Given the description of an element on the screen output the (x, y) to click on. 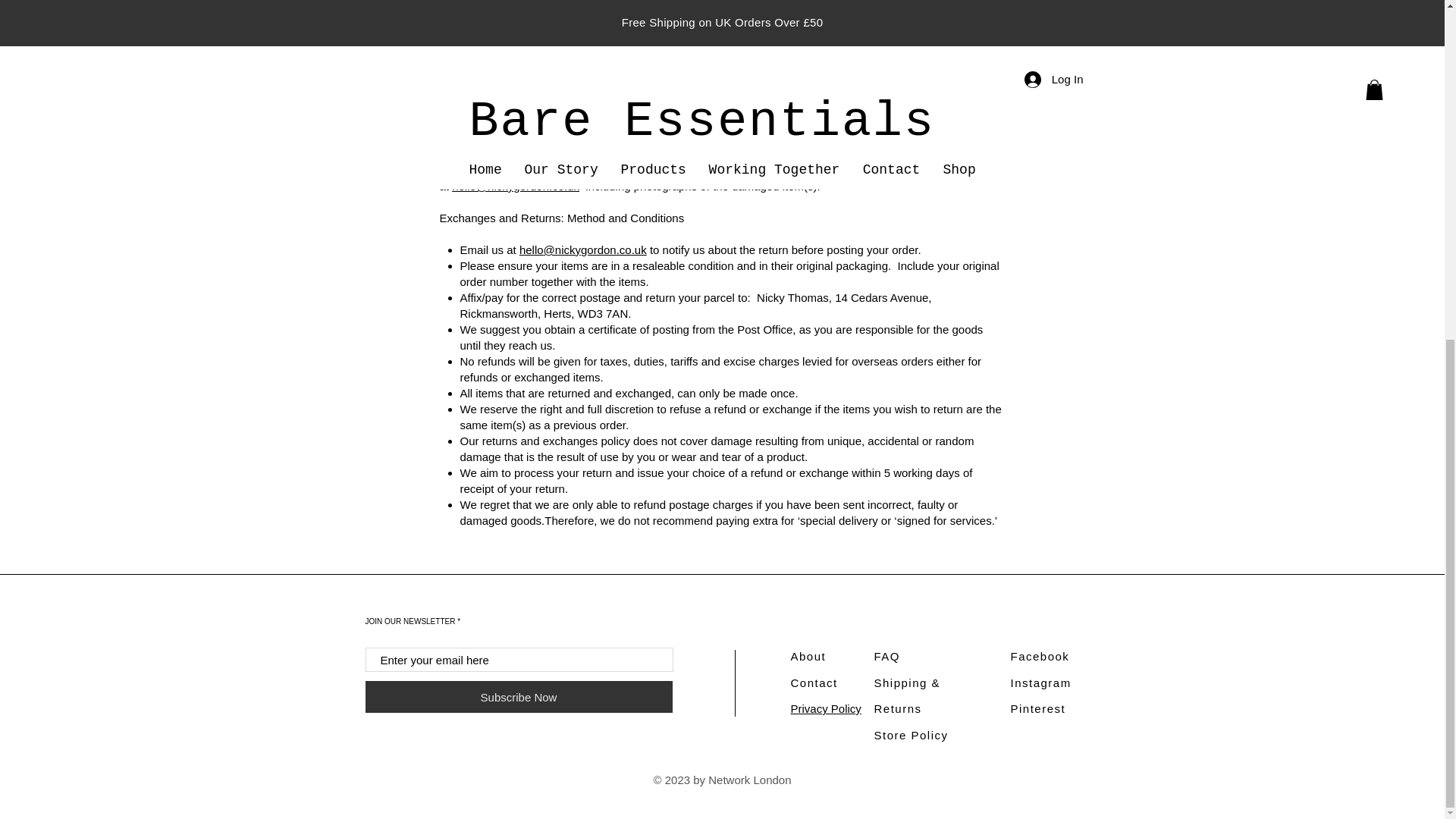
About (807, 656)
Subscribe Now (518, 696)
Instagram (1040, 681)
Privacy Policy (825, 707)
Contact (813, 681)
Store Policy (910, 735)
Pinterest (1037, 707)
FAQ (886, 656)
Facebook (1039, 656)
